Given the description of an element on the screen output the (x, y) to click on. 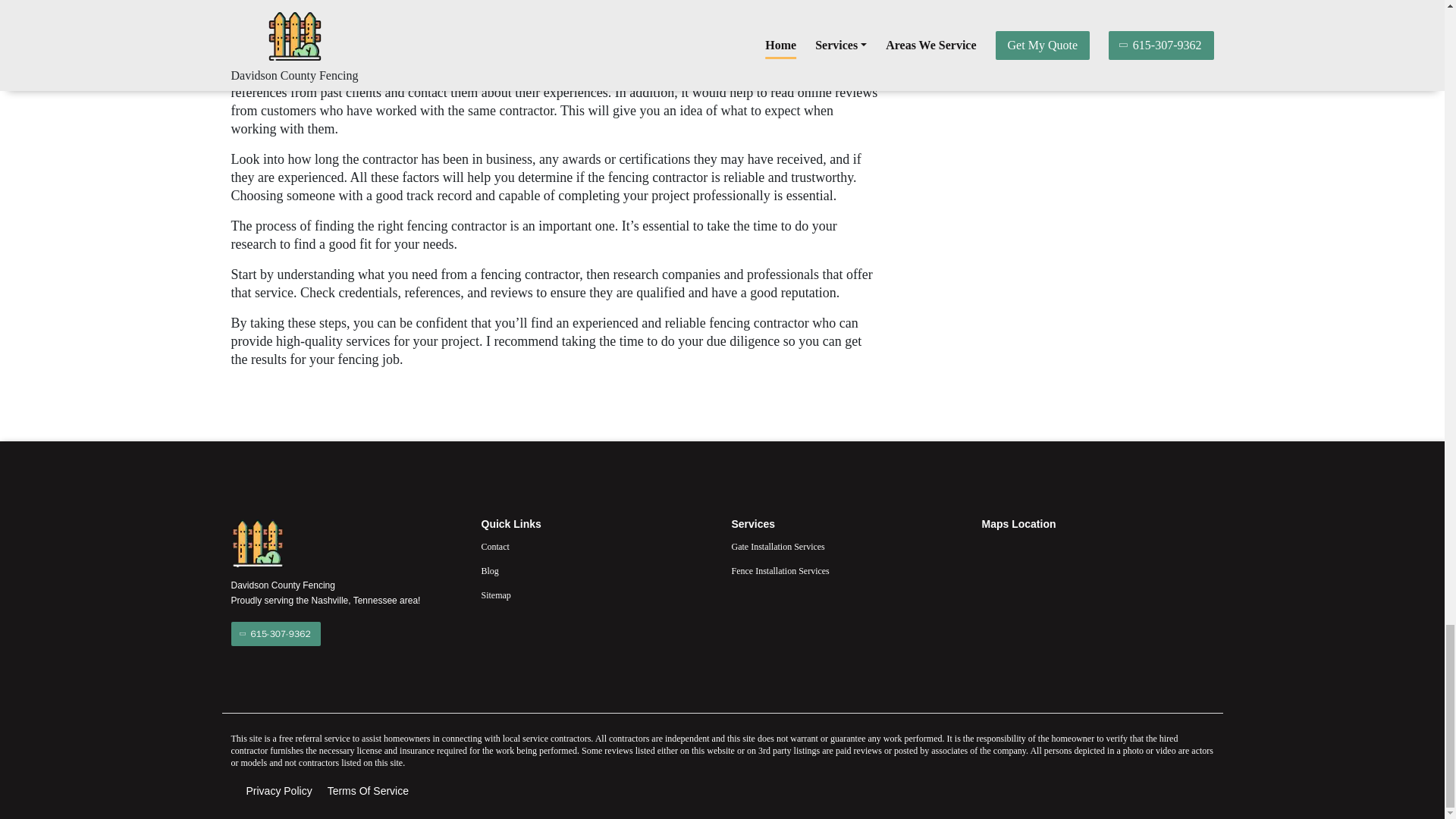
Terms Of Service (368, 791)
615-307-9362 (275, 633)
Fence Installation Services (846, 570)
Blog (596, 570)
Privacy Policy (278, 791)
Contact (596, 546)
Sitemap (596, 595)
Gate Installation Services (846, 546)
